Given the description of an element on the screen output the (x, y) to click on. 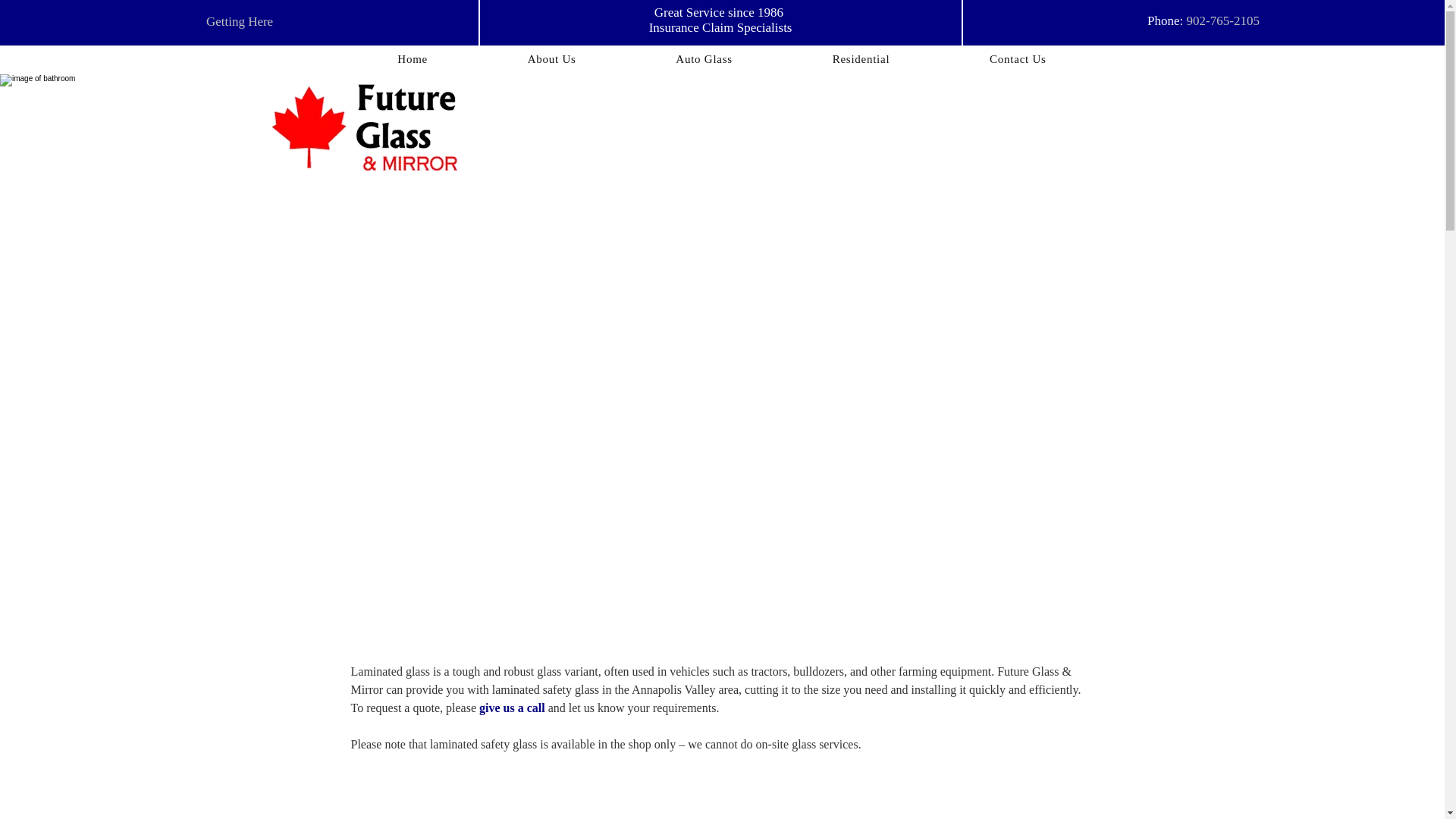
Contact Us (1017, 59)
Residential (861, 59)
Auto Glass (703, 59)
902-765-2105 (1222, 20)
give us a call (511, 707)
About Us (551, 59)
Getting Here (239, 21)
Home (412, 59)
